Given the description of an element on the screen output the (x, y) to click on. 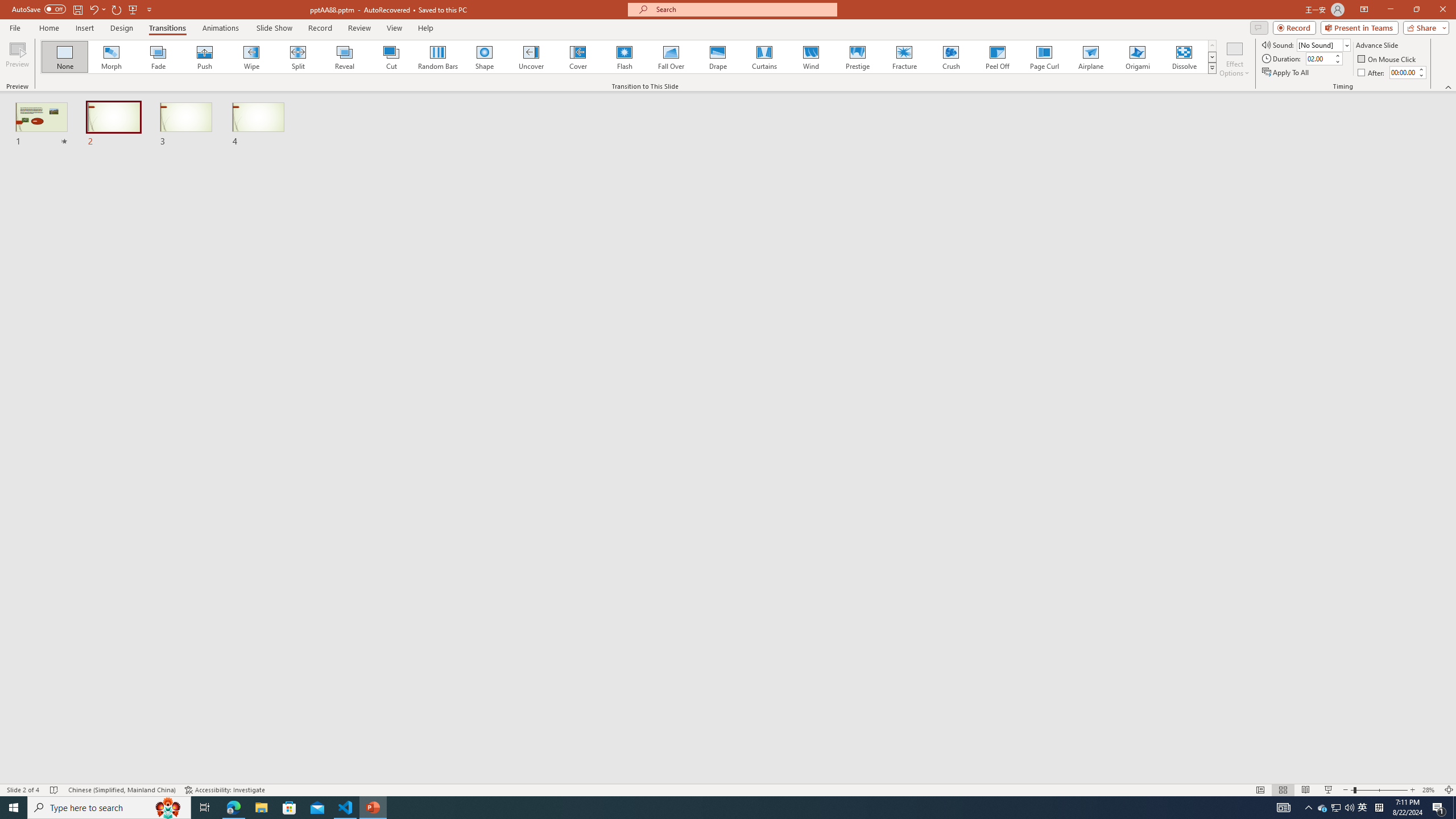
Random Bars (437, 56)
Fall Over (670, 56)
None (65, 56)
Airplane (1090, 56)
Crush (950, 56)
Fracture (903, 56)
